Given the description of an element on the screen output the (x, y) to click on. 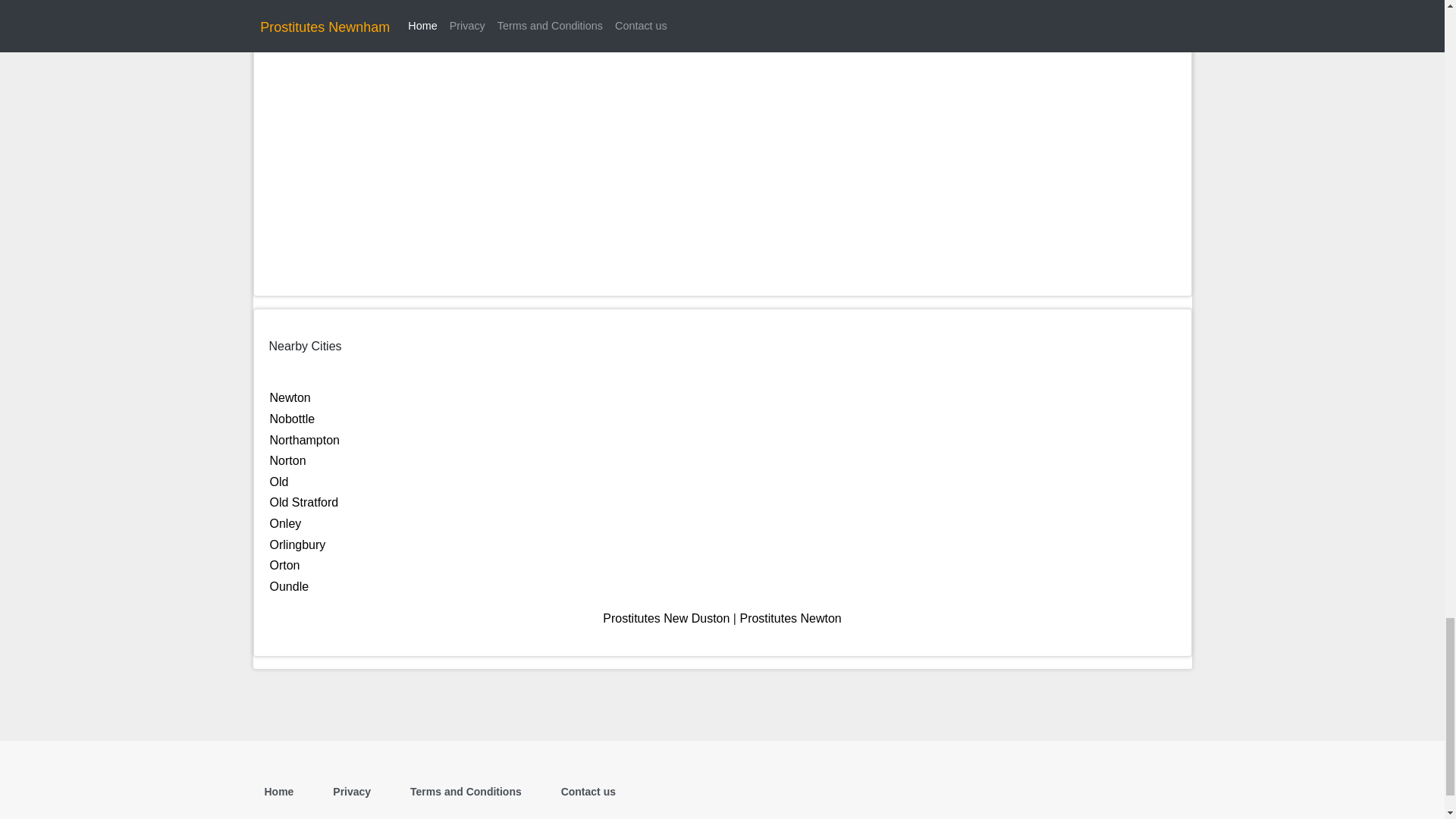
Prostitutes Newton (790, 617)
Old (278, 481)
Orton (284, 564)
Prostitutes New Duston (665, 617)
Orlingbury (297, 544)
Oundle (288, 585)
Northampton (304, 440)
Nobottle (292, 418)
Old Stratford (304, 502)
Norton (287, 460)
Newton (290, 397)
Onley (285, 522)
